Given the description of an element on the screen output the (x, y) to click on. 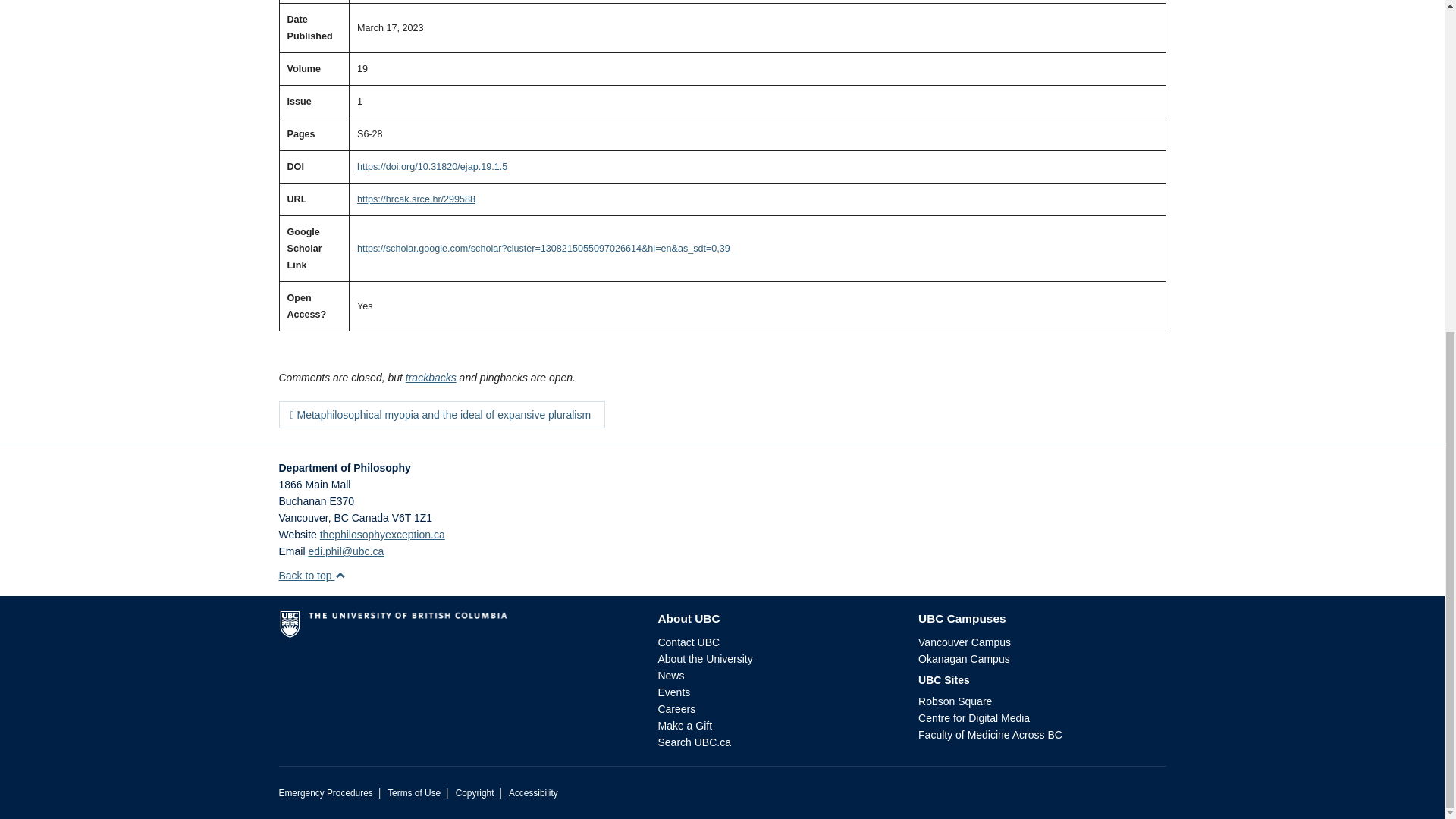
Back to top (312, 575)
Emergency Procedures (325, 792)
thephilosophyexception.ca (382, 534)
Back to top (312, 575)
UBC Copyright (475, 792)
Contact UBC (688, 642)
The University of British Columbia (456, 629)
trackbacks (431, 377)
Terms of Use (414, 792)
Trackback URL for this post (431, 377)
Accessibility (532, 792)
